Given the description of an element on the screen output the (x, y) to click on. 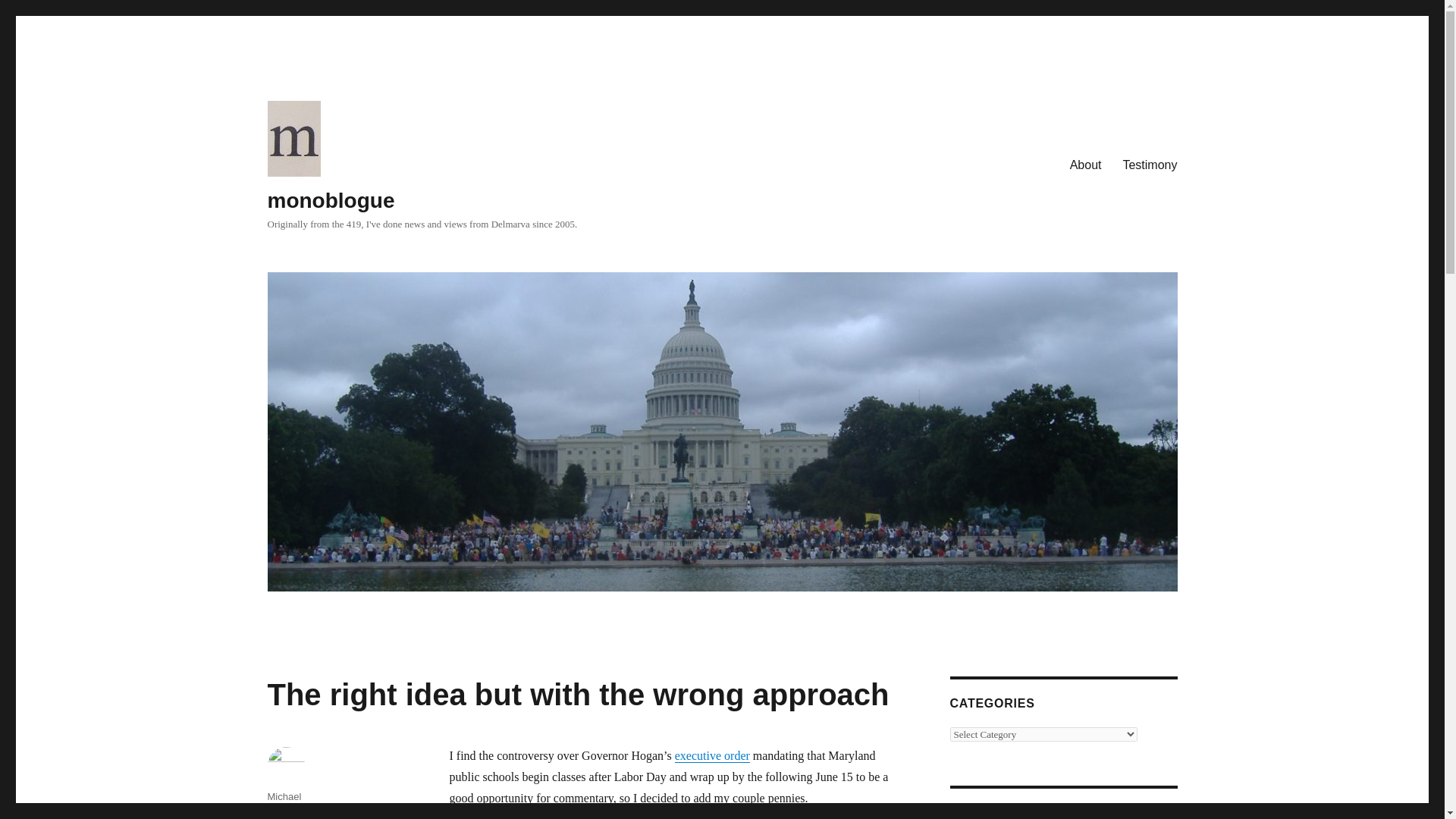
executive order (712, 755)
Michael (283, 796)
About (1085, 164)
monoblogue (330, 200)
Testimony (1150, 164)
September 4, 2016 (308, 815)
